Given the description of an element on the screen output the (x, y) to click on. 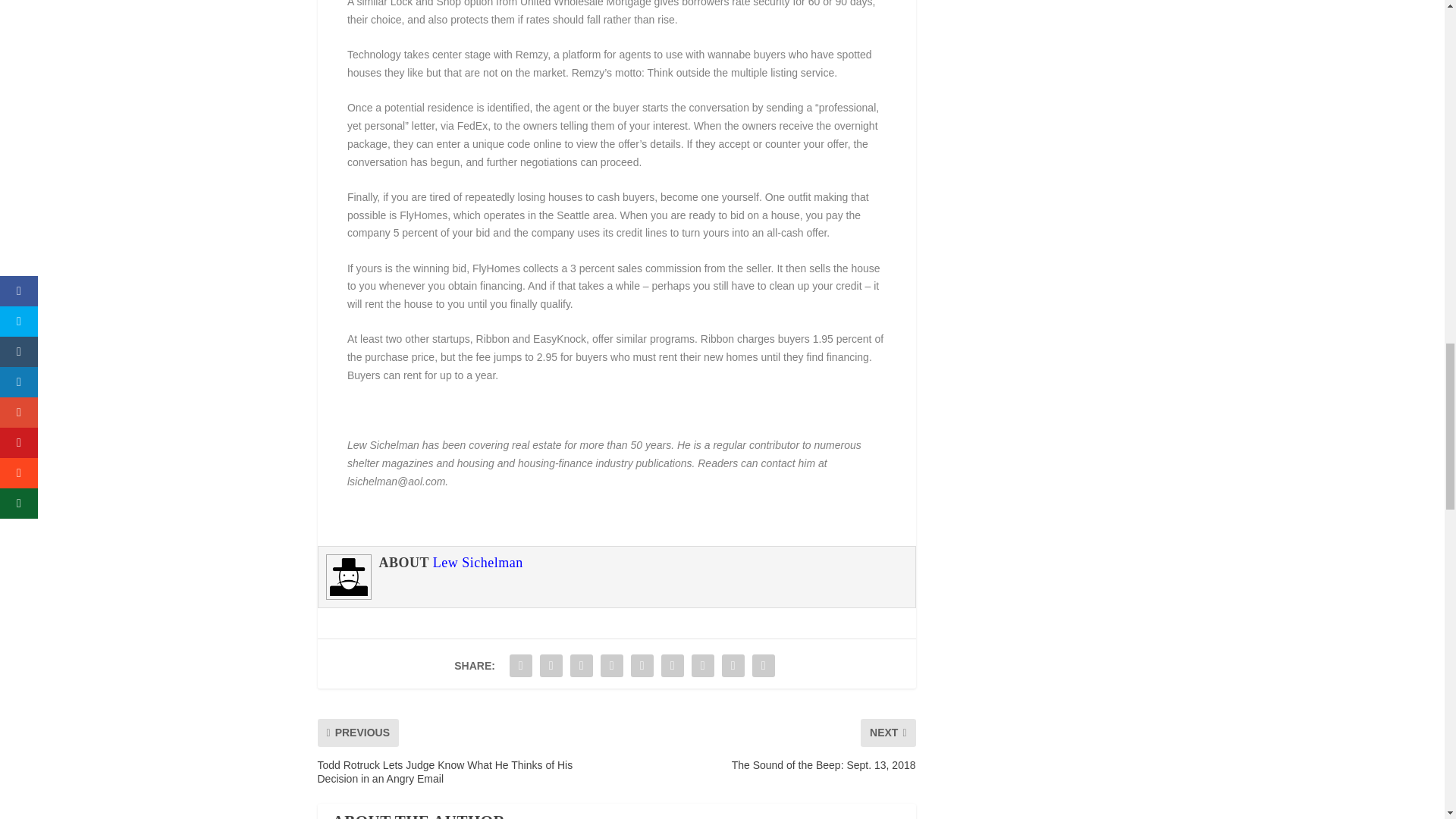
Share "Loan Innovations Keep Coming" via Buffer (702, 665)
Share "Loan Innovations Keep Coming" via Pinterest (642, 665)
Share "Loan Innovations Keep Coming" via LinkedIn (672, 665)
Share "Loan Innovations Keep Coming" via Facebook (520, 665)
Share "Loan Innovations Keep Coming" via Print (763, 665)
Share "Loan Innovations Keep Coming" via Twitter (550, 665)
Share "Loan Innovations Keep Coming" via Tumblr (611, 665)
Share "Loan Innovations Keep Coming" via Email (732, 665)
